Given the description of an element on the screen output the (x, y) to click on. 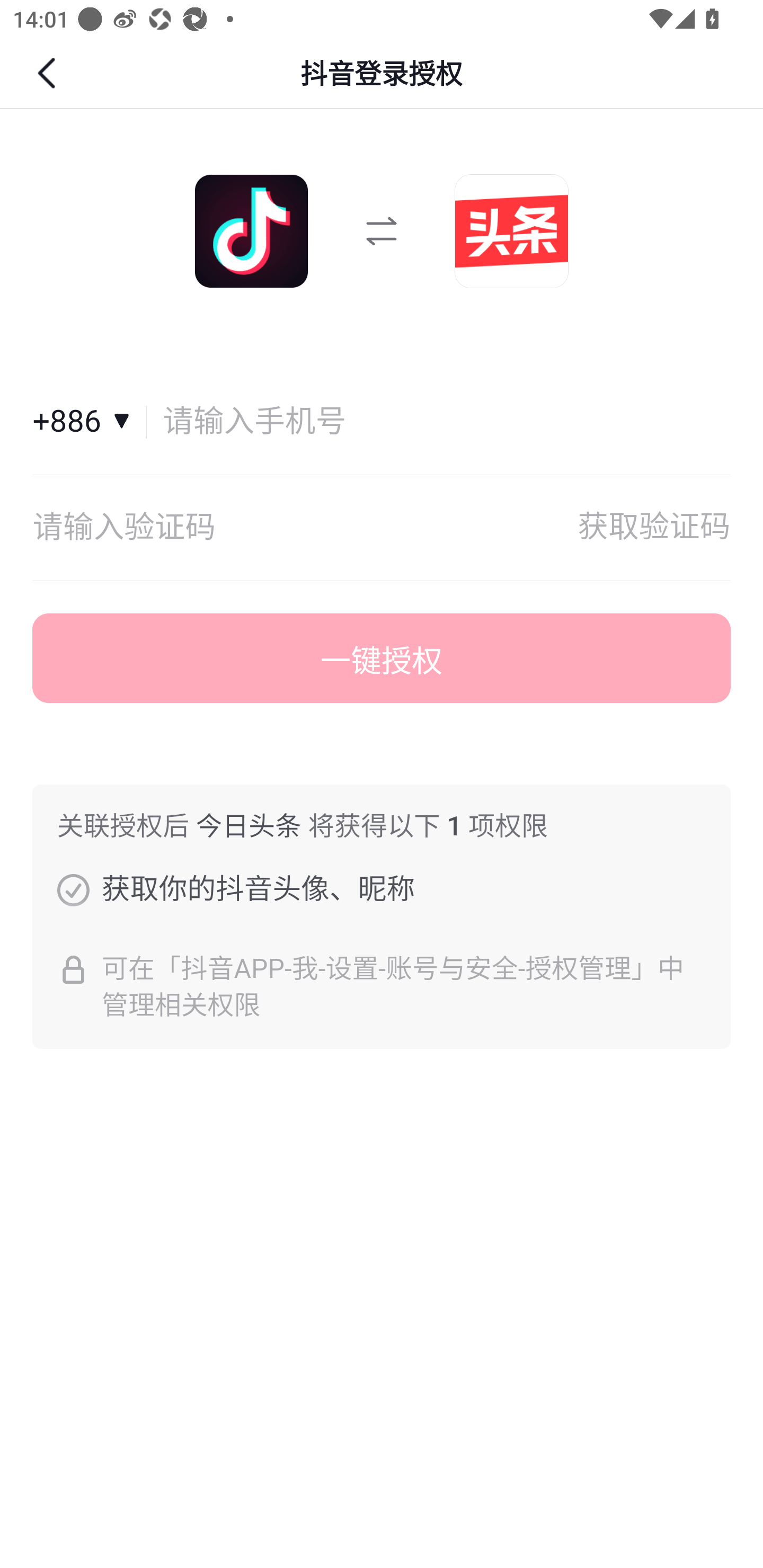
返回 (49, 72)
国家和地区+886 (90, 421)
获取验证码 (653, 527)
一键授权 (381, 658)
获取你的抖音头像、昵称 (72, 889)
